Given the description of an element on the screen output the (x, y) to click on. 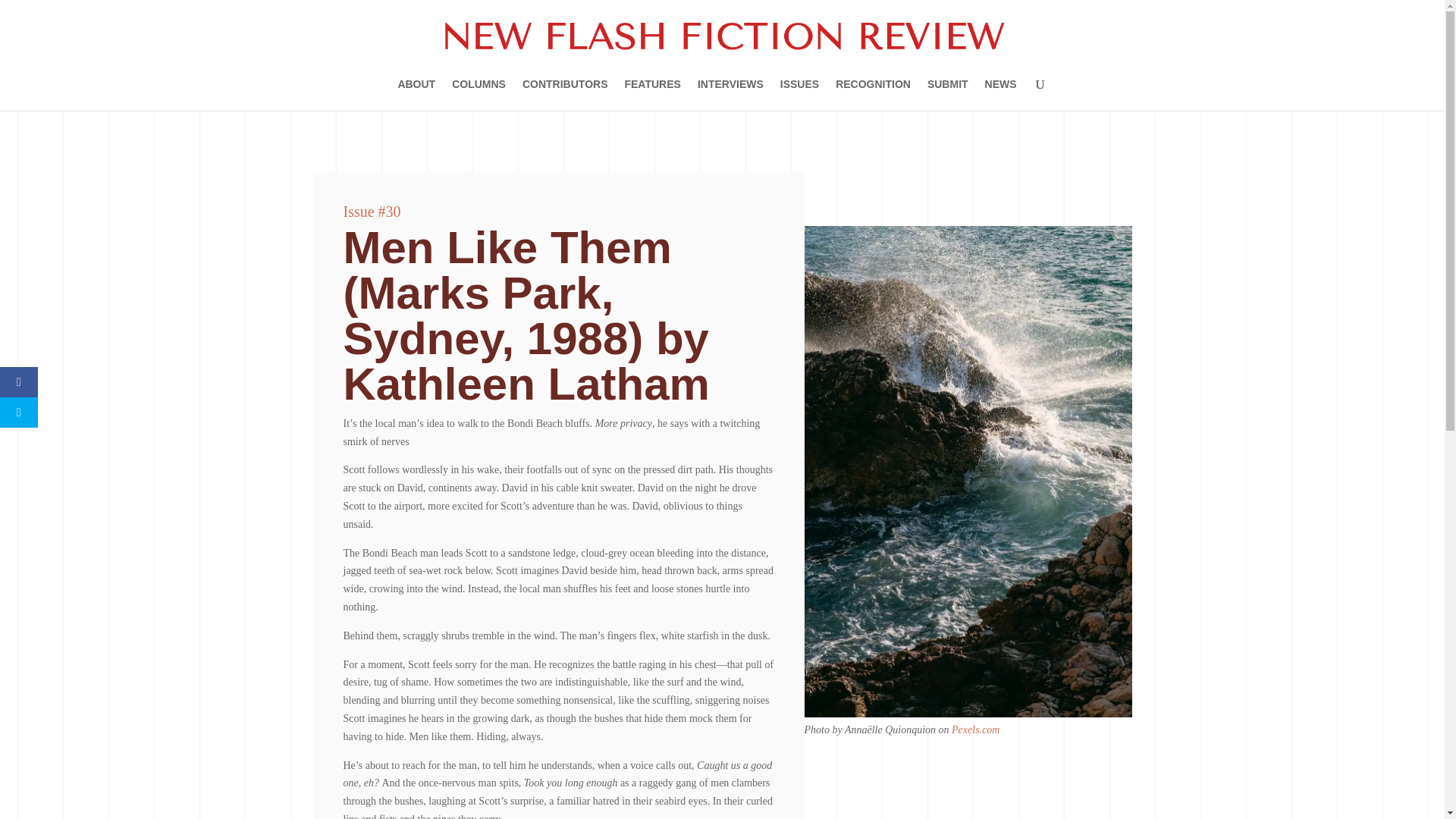
Pexels.com (975, 729)
ISSUES (799, 94)
SUBMIT (947, 94)
RECOGNITION (873, 94)
FEATURES (651, 94)
NEWS (1000, 94)
ABOUT (416, 94)
INTERVIEWS (729, 94)
CONTRIBUTORS (565, 94)
COLUMNS (478, 94)
